Given the description of an element on the screen output the (x, y) to click on. 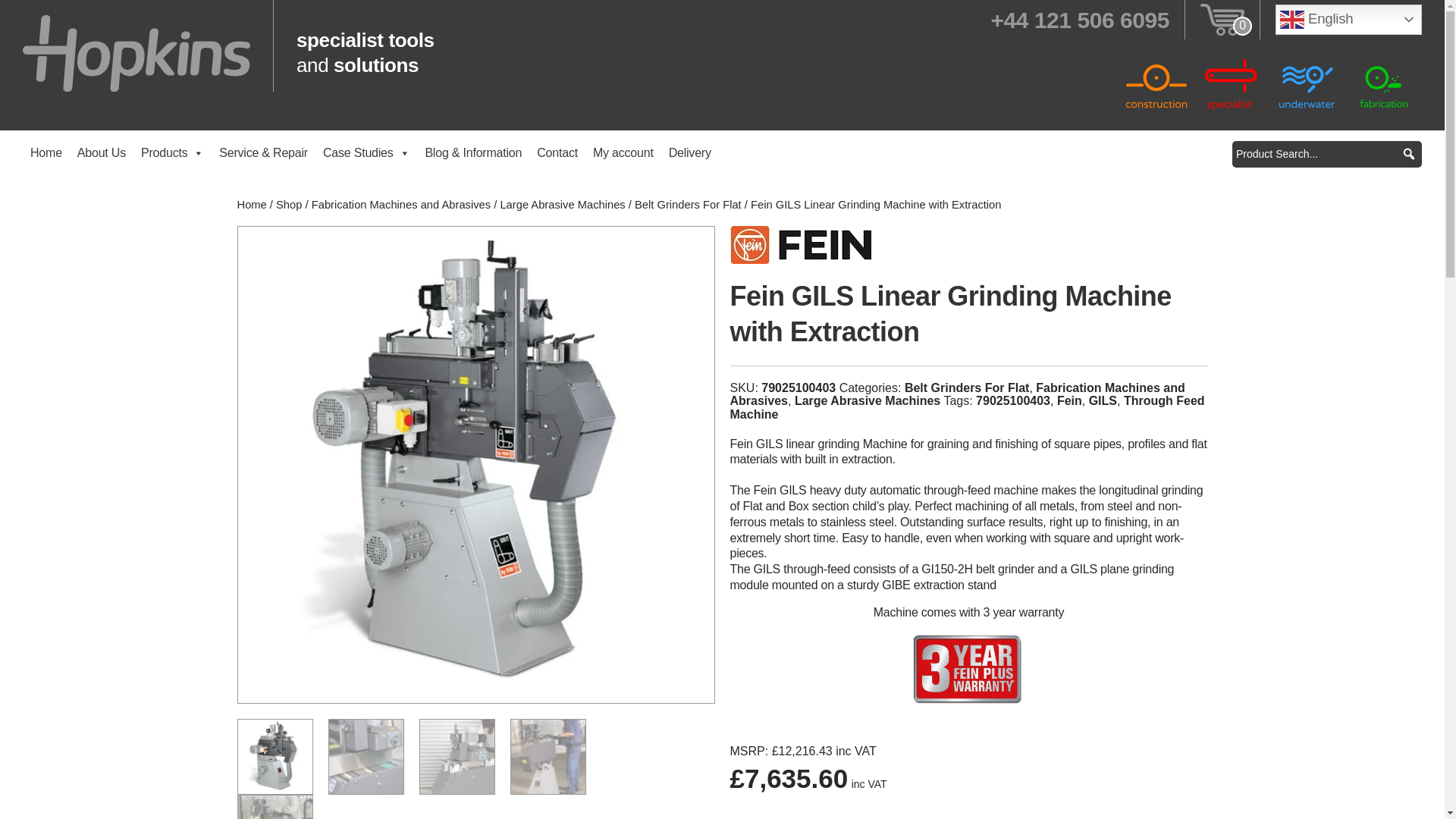
construction (1155, 83)
Search (34, 12)
specialist (1231, 83)
About Us (101, 153)
underwater (1307, 83)
0 (1221, 18)
English (1348, 19)
View Basket (1221, 18)
fabrication (1383, 83)
Products (172, 153)
Home (46, 153)
EC Hopkins (136, 51)
